Given the description of an element on the screen output the (x, y) to click on. 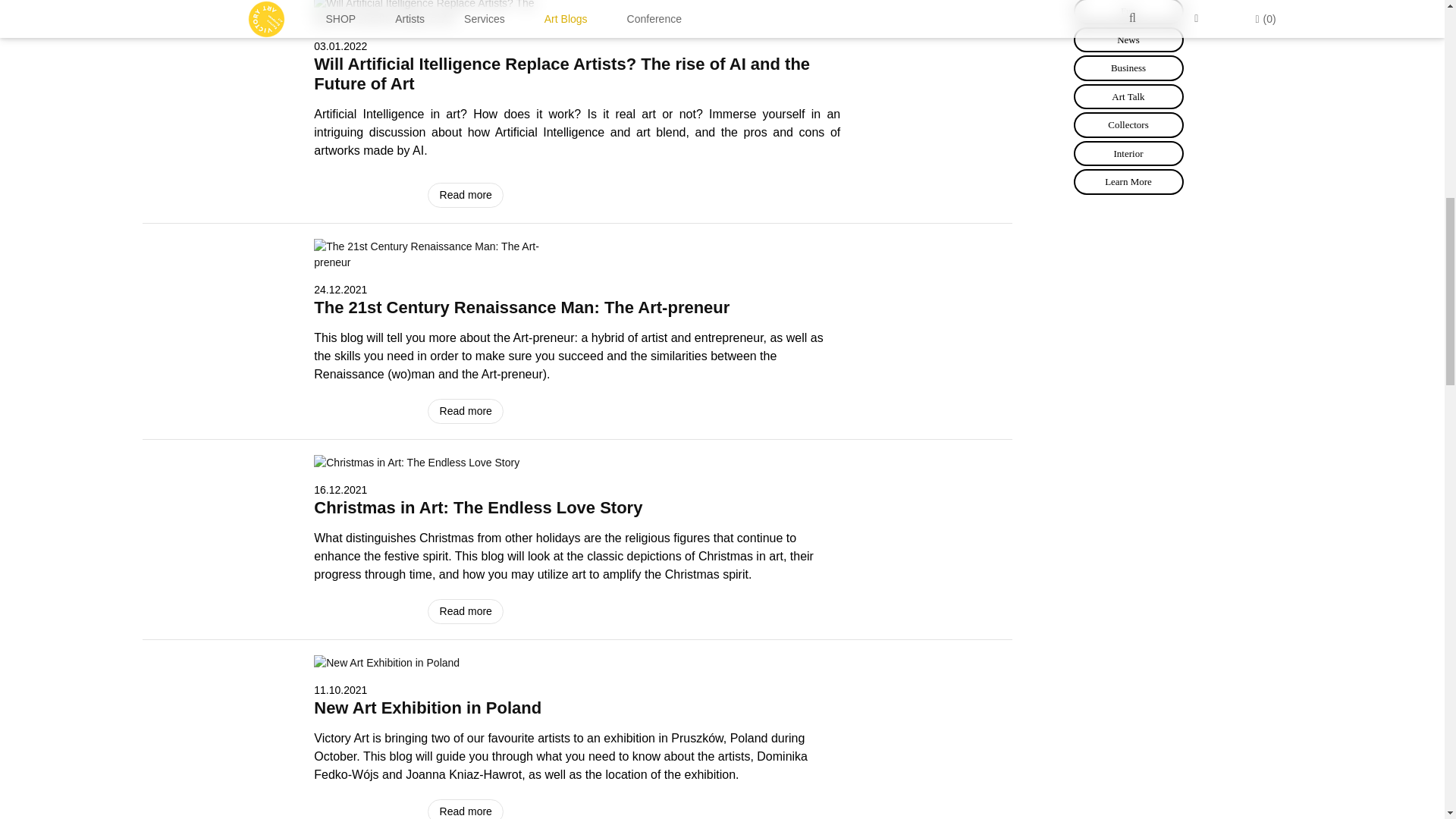
Read more (465, 809)
Collectors (1128, 125)
News (1128, 40)
Interior (1128, 153)
New Art Exhibition in Poland (387, 662)
Read more (465, 411)
The 21st Century Renaissance Man: The Art-preneur (521, 307)
The 21st Century Renaissance Man: The Art-preneur (427, 255)
Christmas in Art: The Endless Love Story (416, 462)
